Given the description of an element on the screen output the (x, y) to click on. 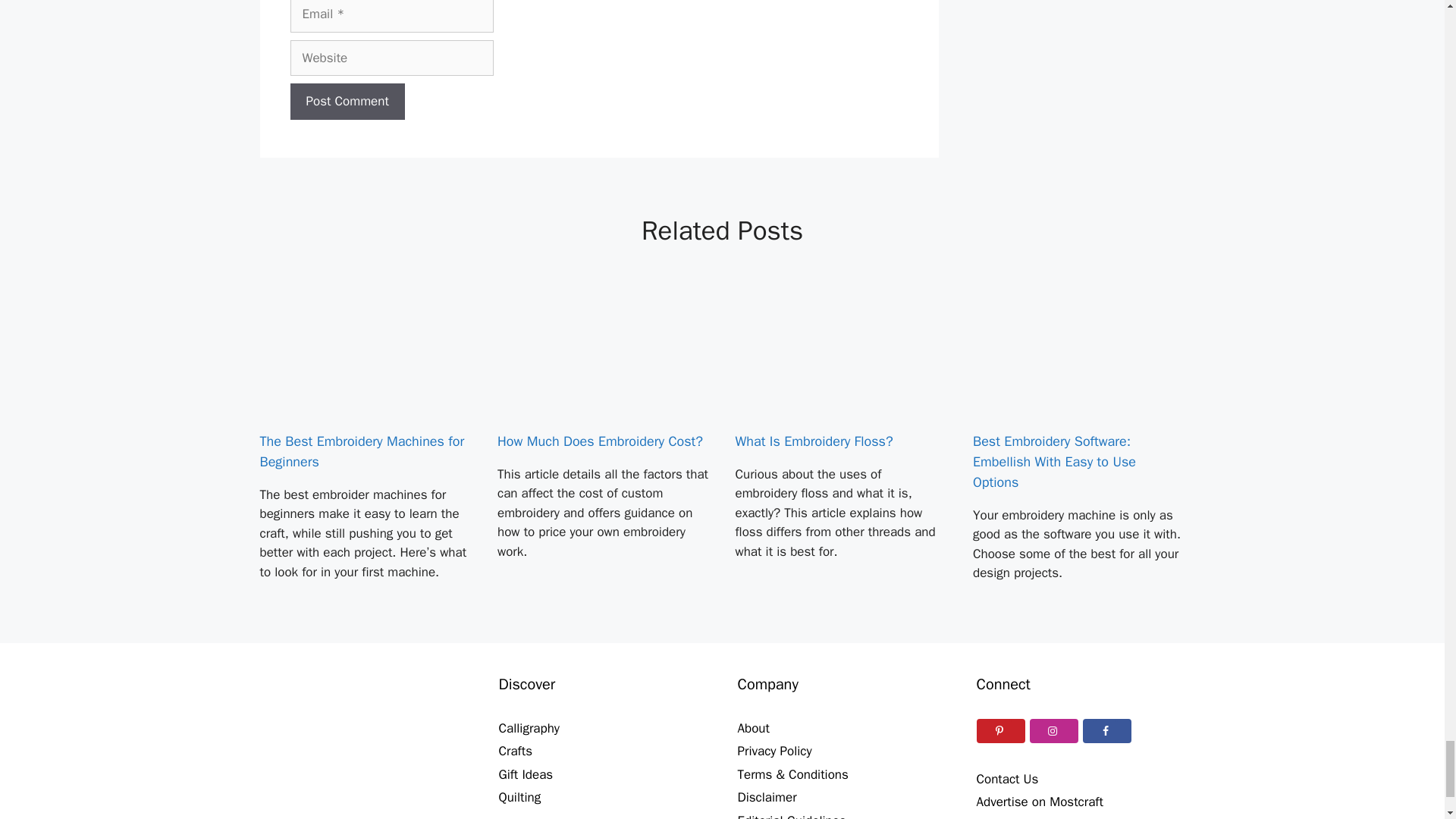
Post Comment (346, 101)
